Given the description of an element on the screen output the (x, y) to click on. 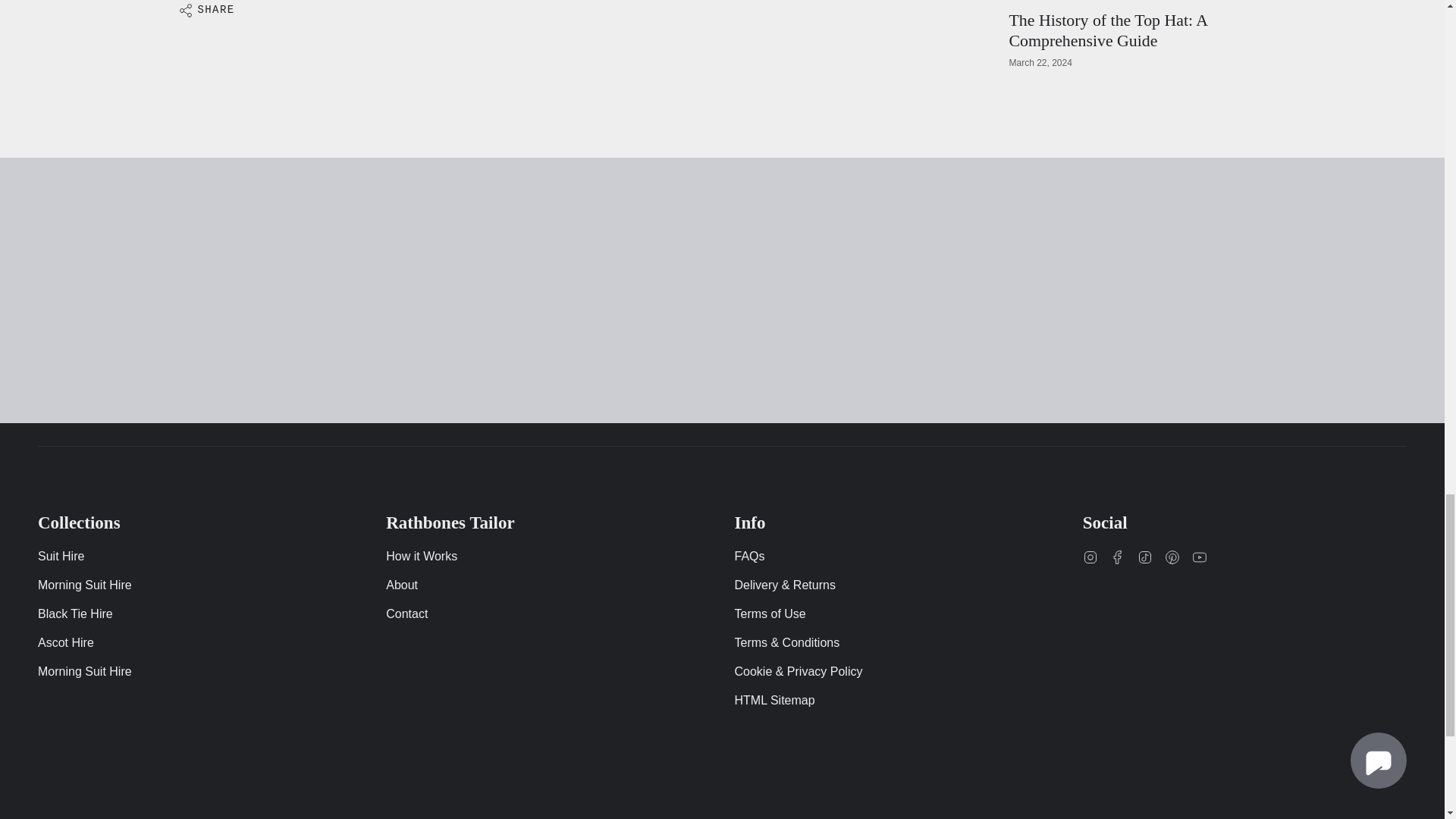
Rathbones Tailor on Facebook (1117, 556)
Rathbones Tailor on Instagram (1090, 556)
Rathbones Tailor on Pinterest (1171, 556)
The History of the Top Hat: A Comprehensive Guide (1108, 30)
Rathbones Tailor on YouTube (1199, 556)
Rathbones Tailor on TikTok (1145, 556)
